Given the description of an element on the screen output the (x, y) to click on. 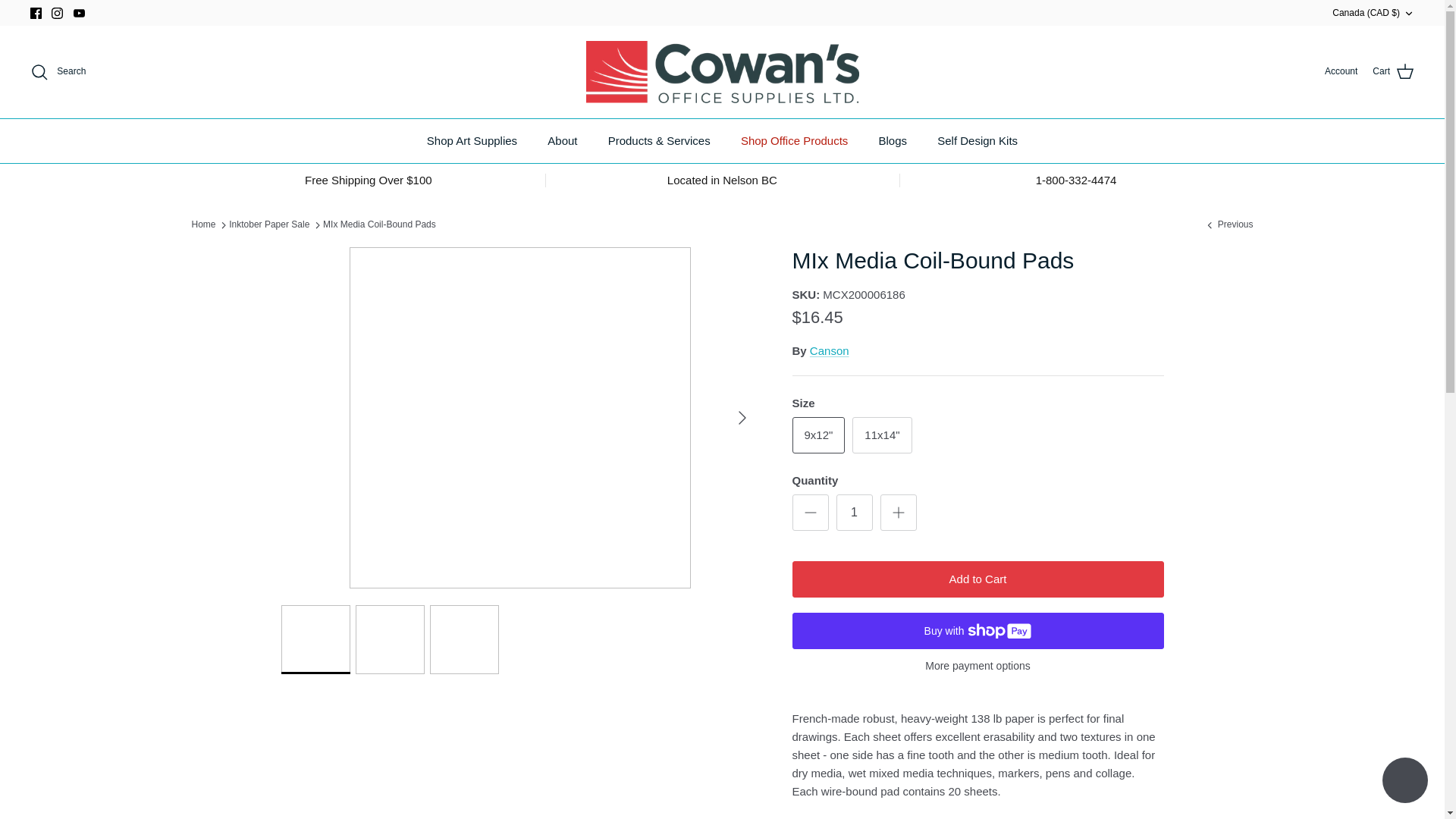
Youtube (79, 12)
Shopify online store chat (1404, 781)
Plus (897, 512)
Right (741, 416)
Instagram (56, 12)
Facebook (36, 12)
Cowan Office Supplies (722, 71)
Down (1408, 13)
Bristol Vellum Pads (1228, 224)
Minus (809, 512)
